Given the description of an element on the screen output the (x, y) to click on. 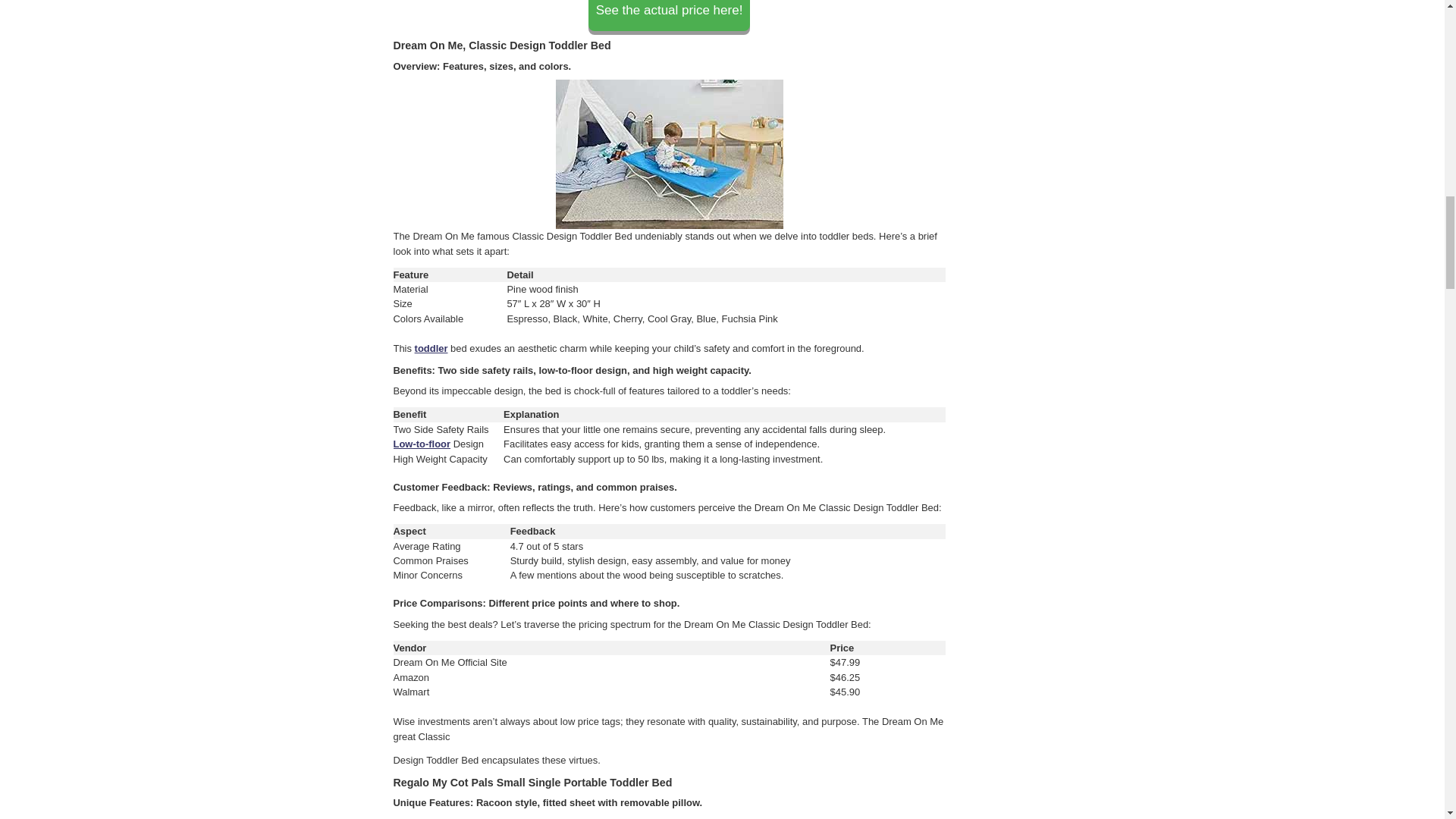
toddler (431, 348)
See the actual price here! (669, 10)
Low-to-floor (421, 443)
See the actual price here! (669, 15)
